Given the description of an element on the screen output the (x, y) to click on. 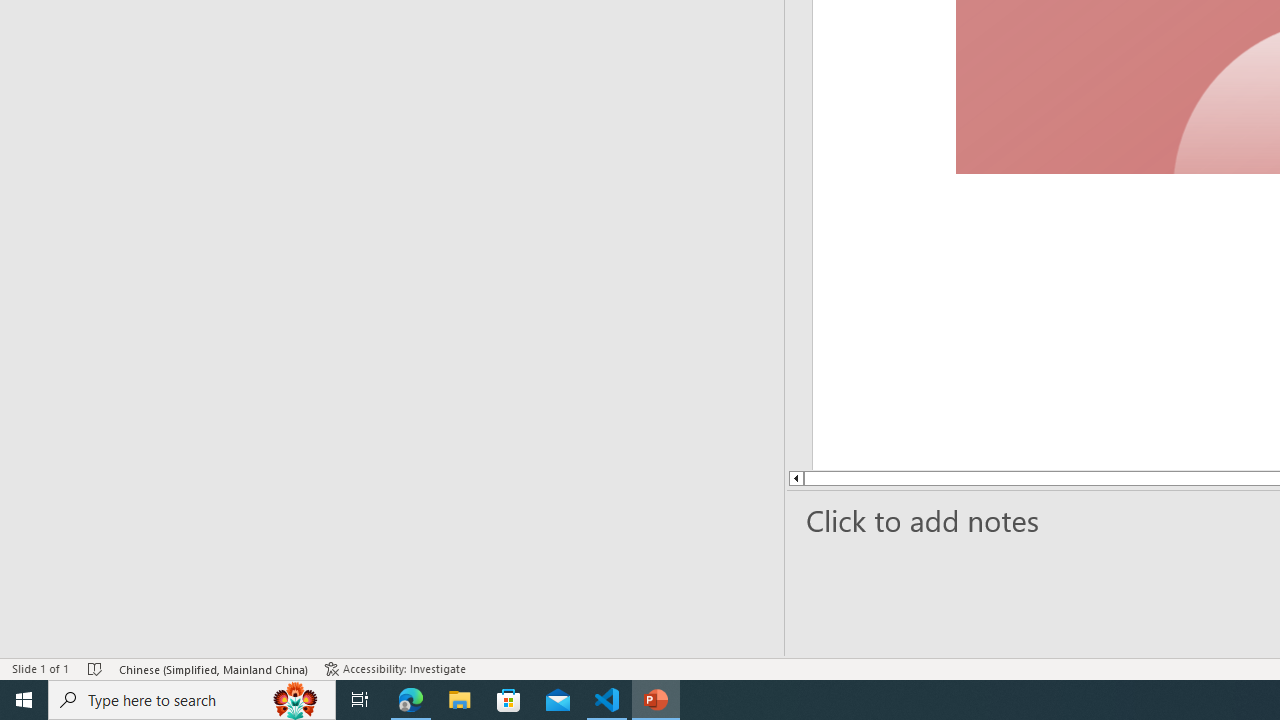
Accessibility Checker Accessibility: Investigate (397, 668)
Page up (868, 478)
Spell Check No Errors (95, 668)
Line up (722, 478)
